Given the description of an element on the screen output the (x, y) to click on. 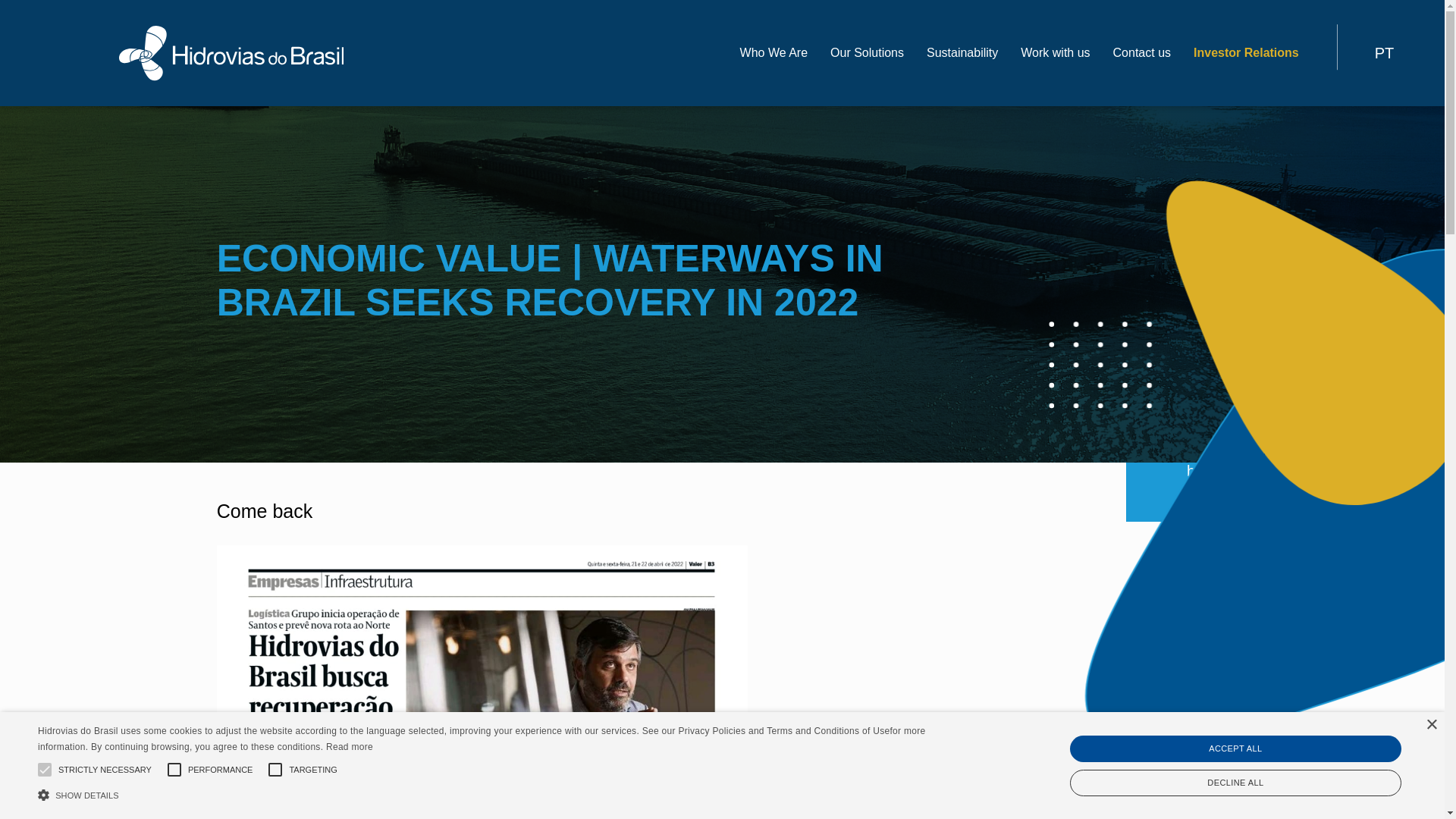
Investor Relations (1245, 51)
Come back (264, 510)
Work with us (1054, 51)
Our Solutions (866, 51)
Contact us (1141, 51)
Sustainability (961, 51)
Who We Are (773, 51)
PT (1365, 52)
